Given the description of an element on the screen output the (x, y) to click on. 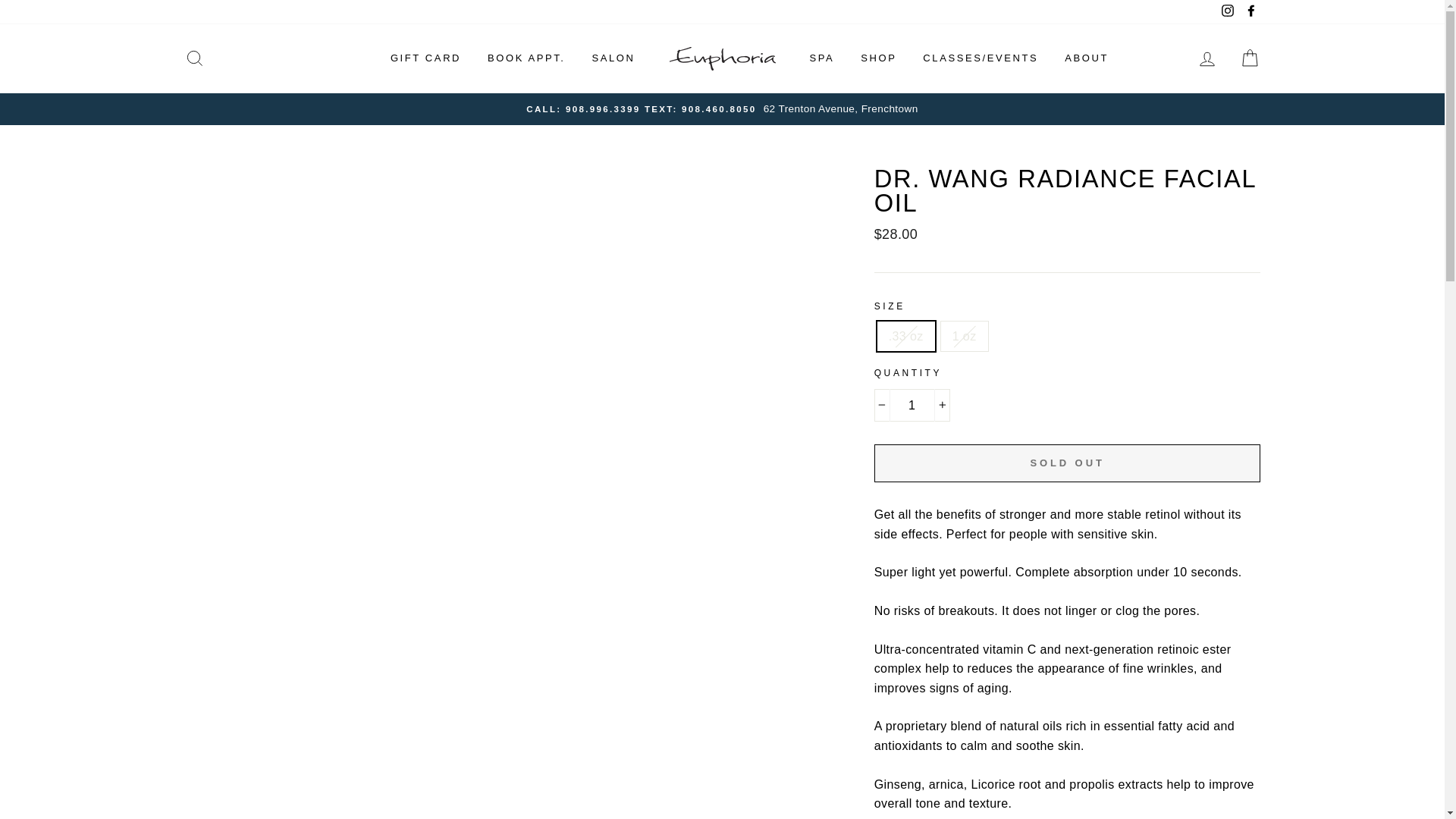
SHOP (877, 58)
SALON (612, 58)
SEARCH (194, 58)
BOOK APPT. (526, 58)
SPA (821, 58)
GIFT CARD (424, 58)
ABOUT (1085, 58)
